Given the description of an element on the screen output the (x, y) to click on. 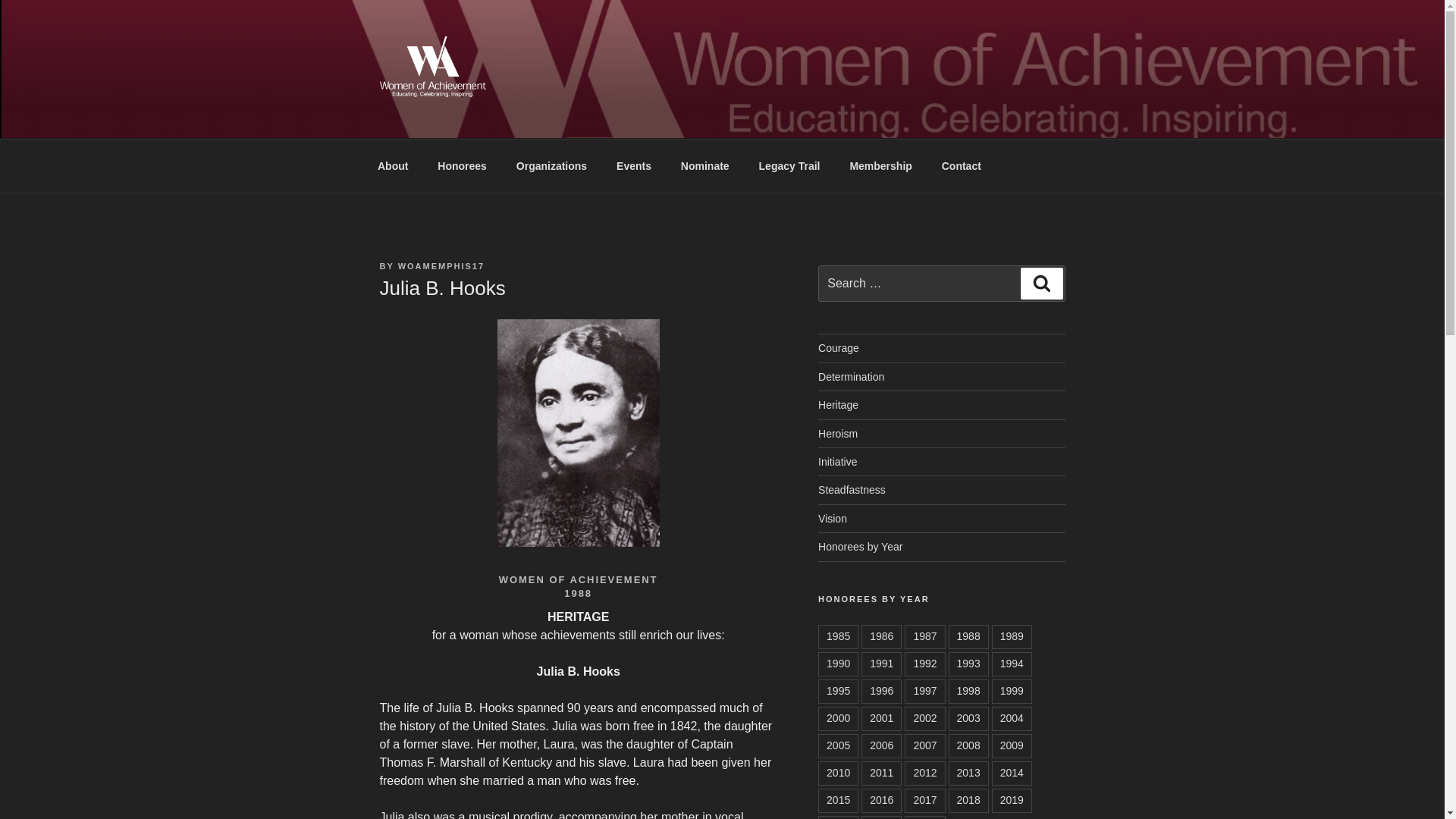
Legacy Trail (788, 165)
Search (1041, 283)
1986 (881, 636)
Vision (832, 518)
Determination (850, 377)
1988 (968, 636)
1987 (924, 636)
Heroism (837, 433)
Contact (961, 165)
Events (634, 165)
